Given the description of an element on the screen output the (x, y) to click on. 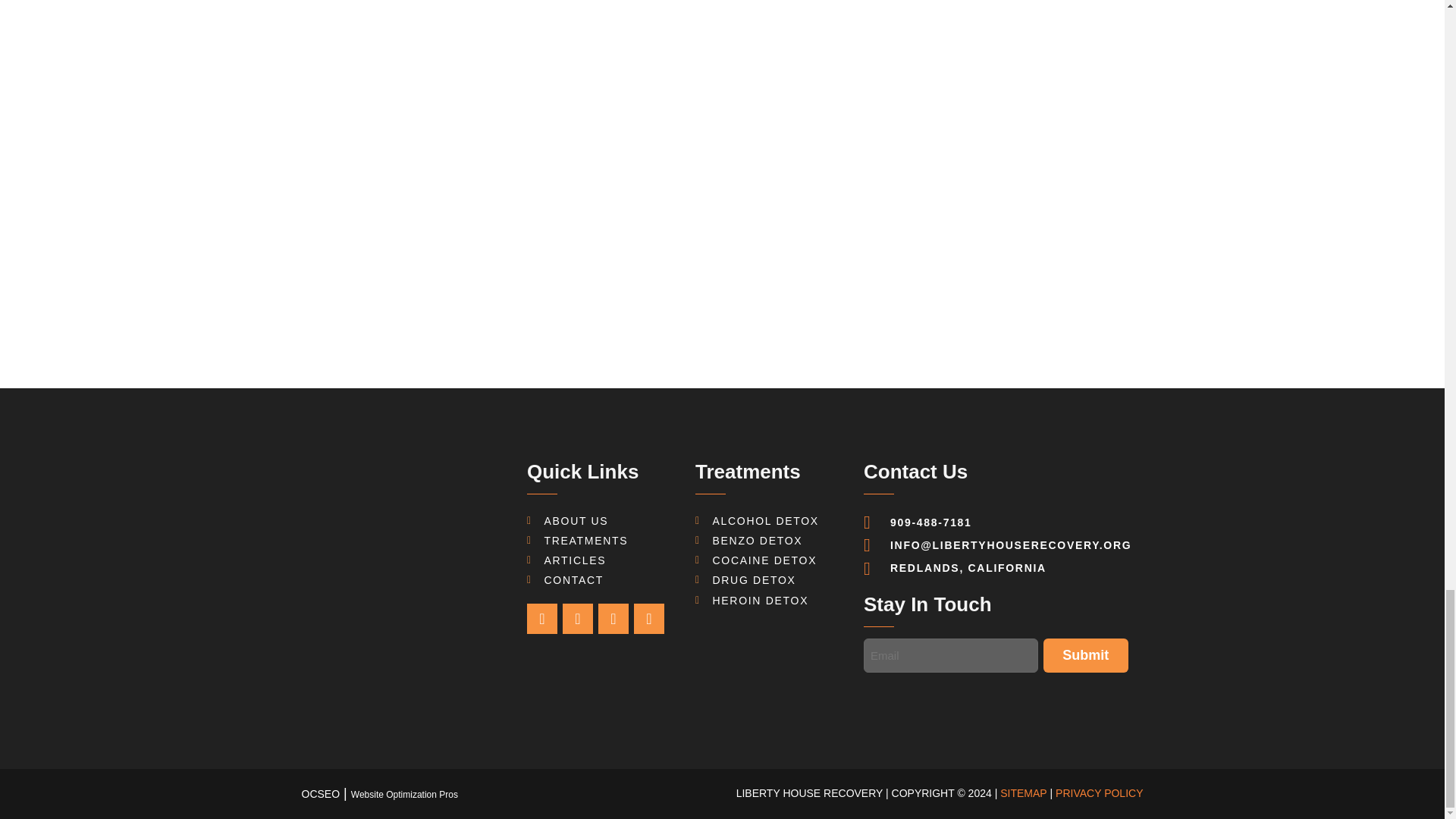
909-488-7181 (995, 522)
TREATMENTS (577, 540)
ARTICLES (566, 560)
ALCOHOL DETOX (763, 520)
ABOUT US (567, 520)
BENZO DETOX (763, 540)
Submit (1085, 655)
HEROIN DETOX (763, 600)
CONTACT (565, 580)
COCAINE DETOX (763, 560)
